Given the description of an element on the screen output the (x, y) to click on. 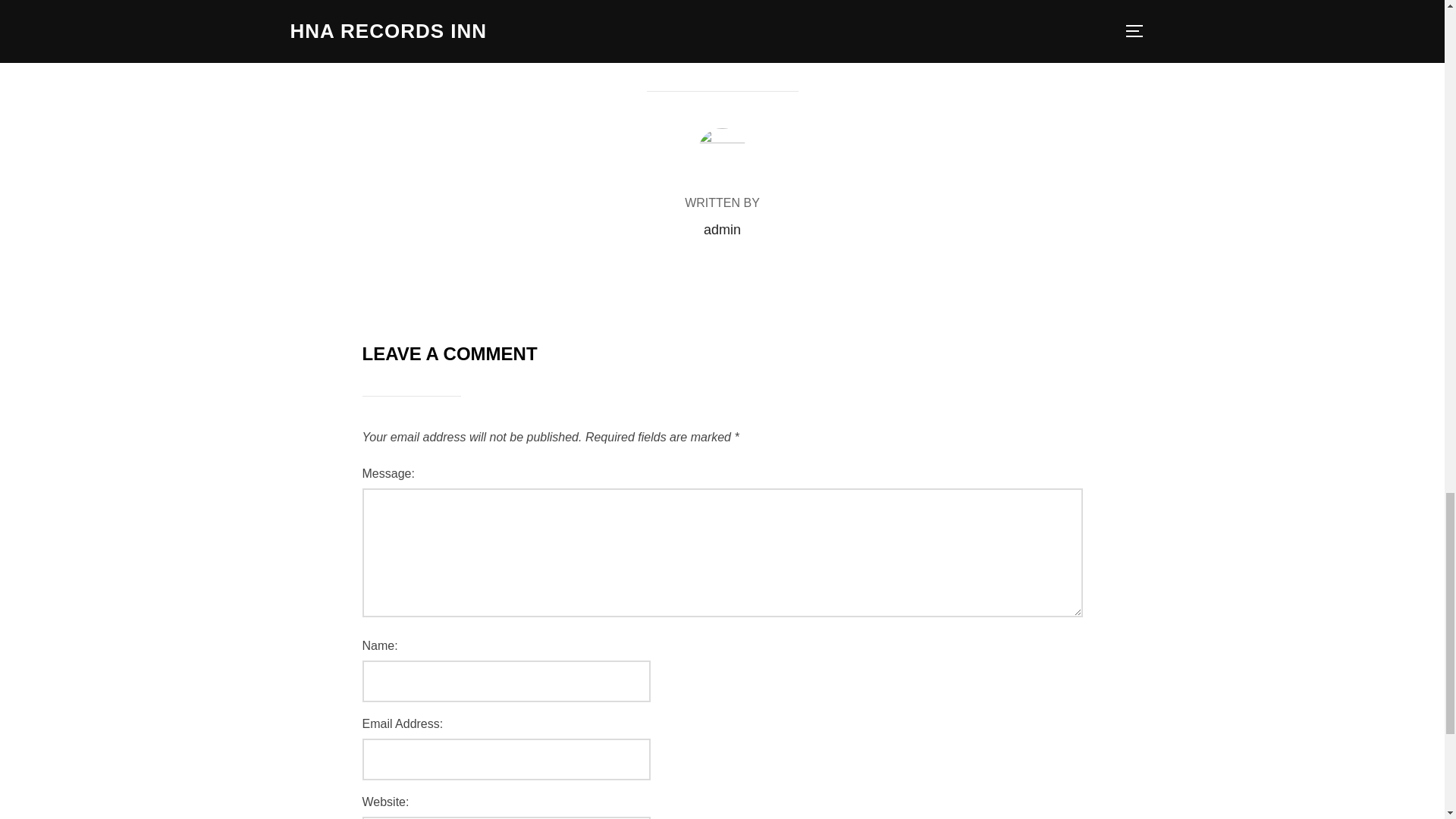
admin (722, 229)
Posts by admin (722, 229)
